Given the description of an element on the screen output the (x, y) to click on. 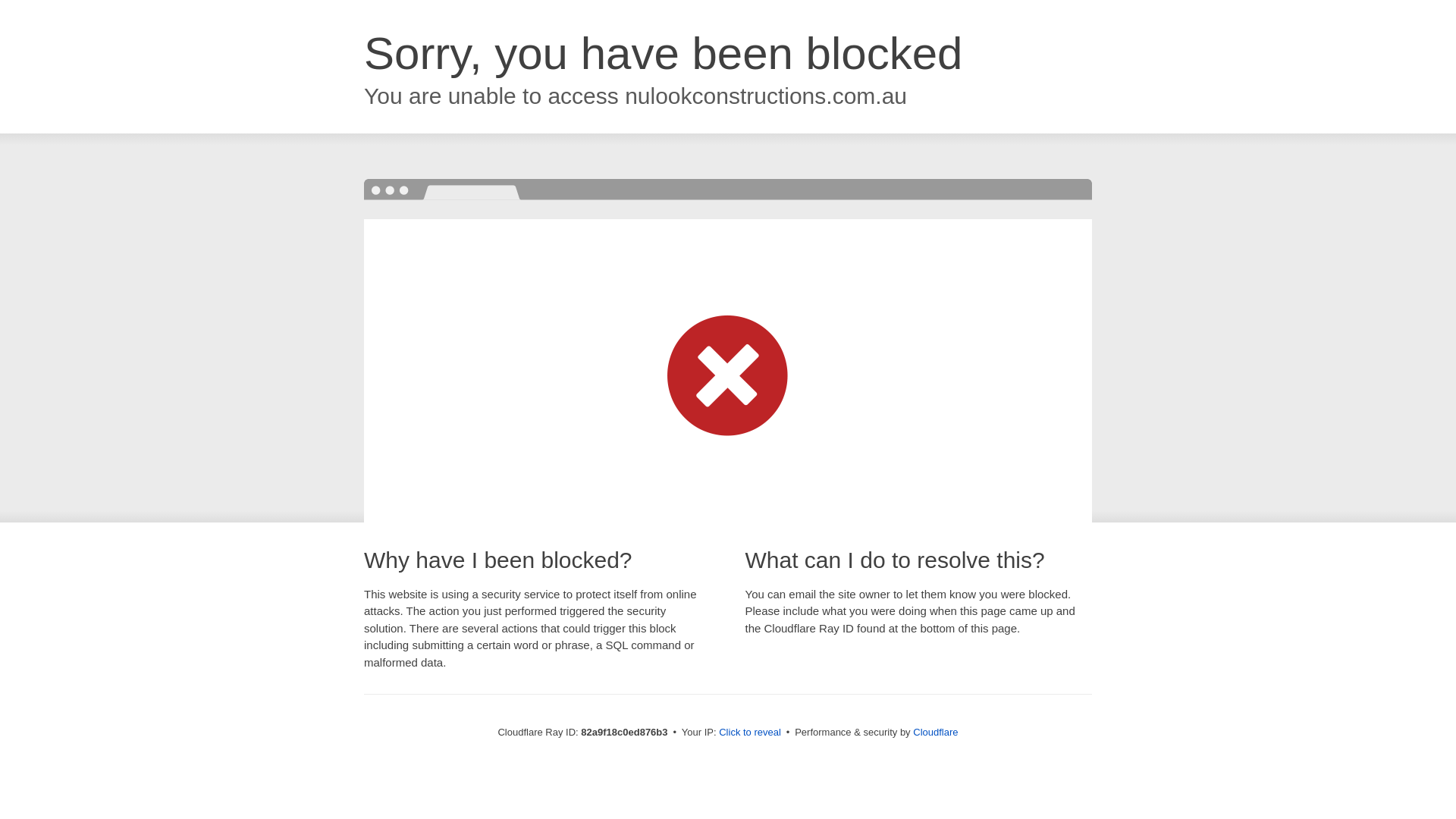
Cloudflare Element type: text (935, 731)
Click to reveal Element type: text (749, 732)
